Given the description of an element on the screen output the (x, y) to click on. 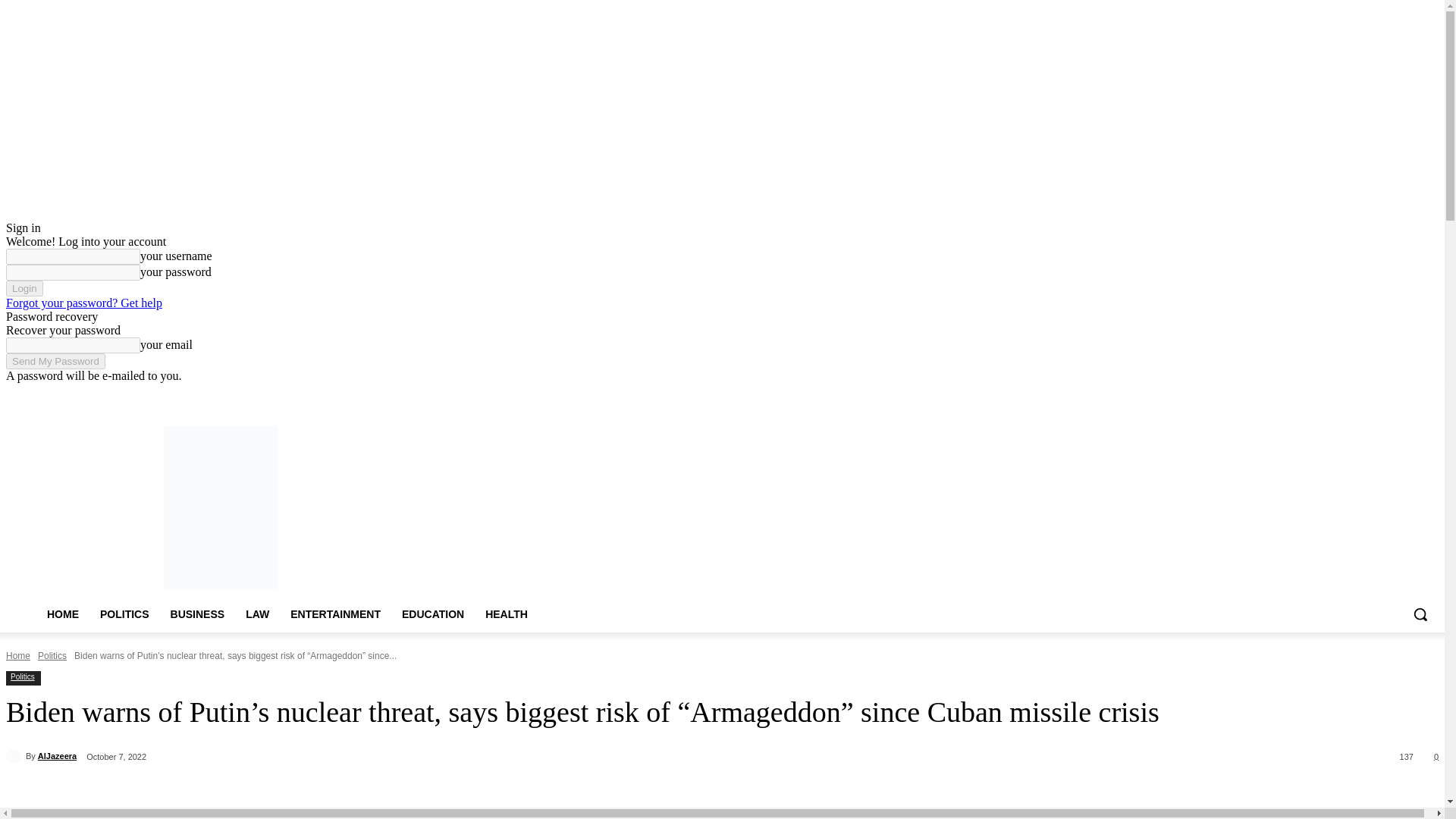
Login (24, 288)
Instagram (1366, 393)
Facebook (1345, 393)
Politics (22, 676)
Forgot your password? Get help (83, 302)
Entertainment (397, 393)
Business (314, 393)
Home (236, 393)
BUSINESS (197, 614)
POLITICS (124, 614)
